Given the description of an element on the screen output the (x, y) to click on. 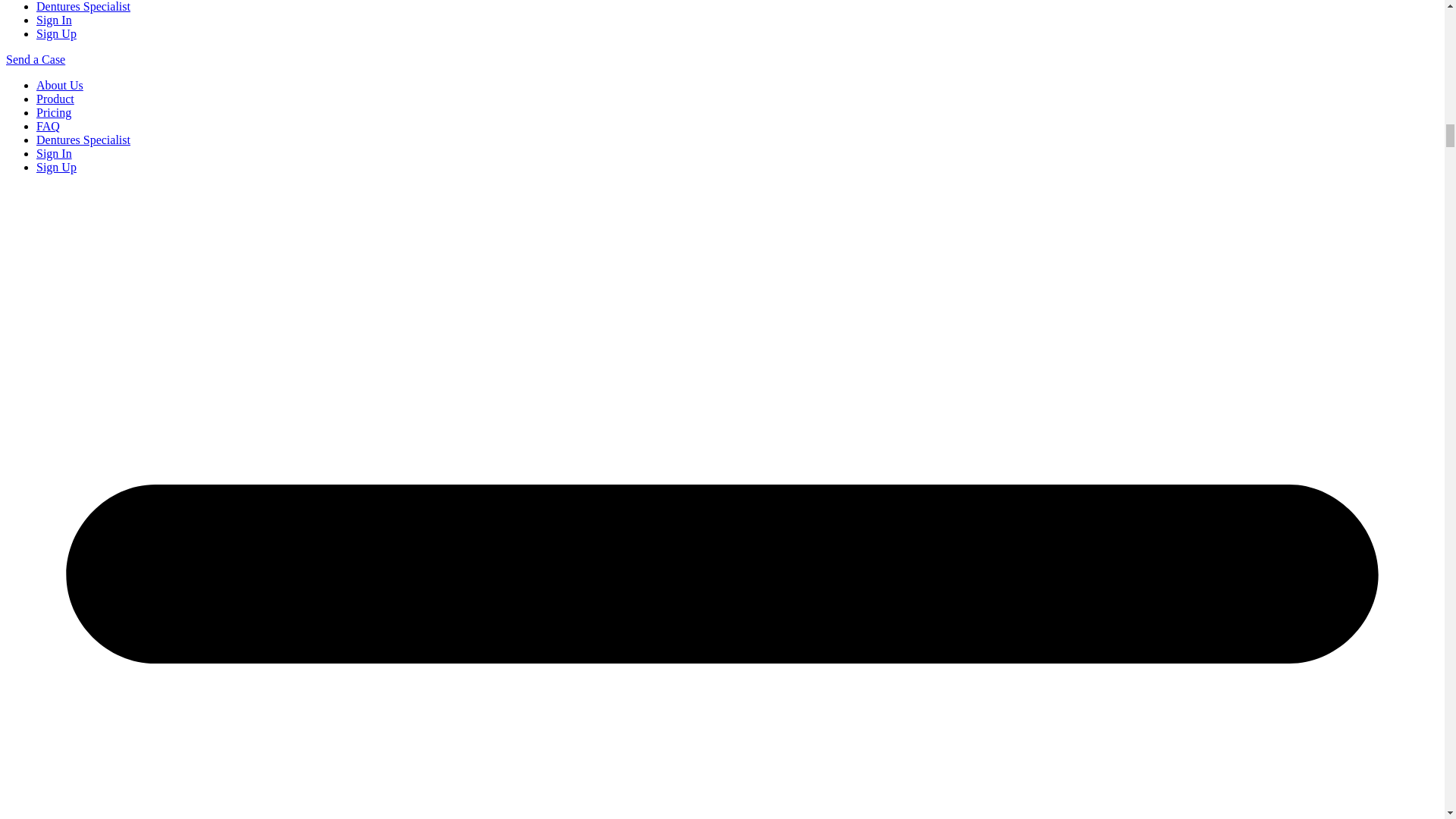
Dentures Specialist (83, 6)
Product (55, 98)
Sign Up (56, 166)
About Us (59, 84)
Pricing (53, 112)
FAQ (47, 125)
Sign In (53, 153)
Dentures Specialist (83, 139)
Sign In (53, 19)
Send a Case (35, 59)
